Given the description of an element on the screen output the (x, y) to click on. 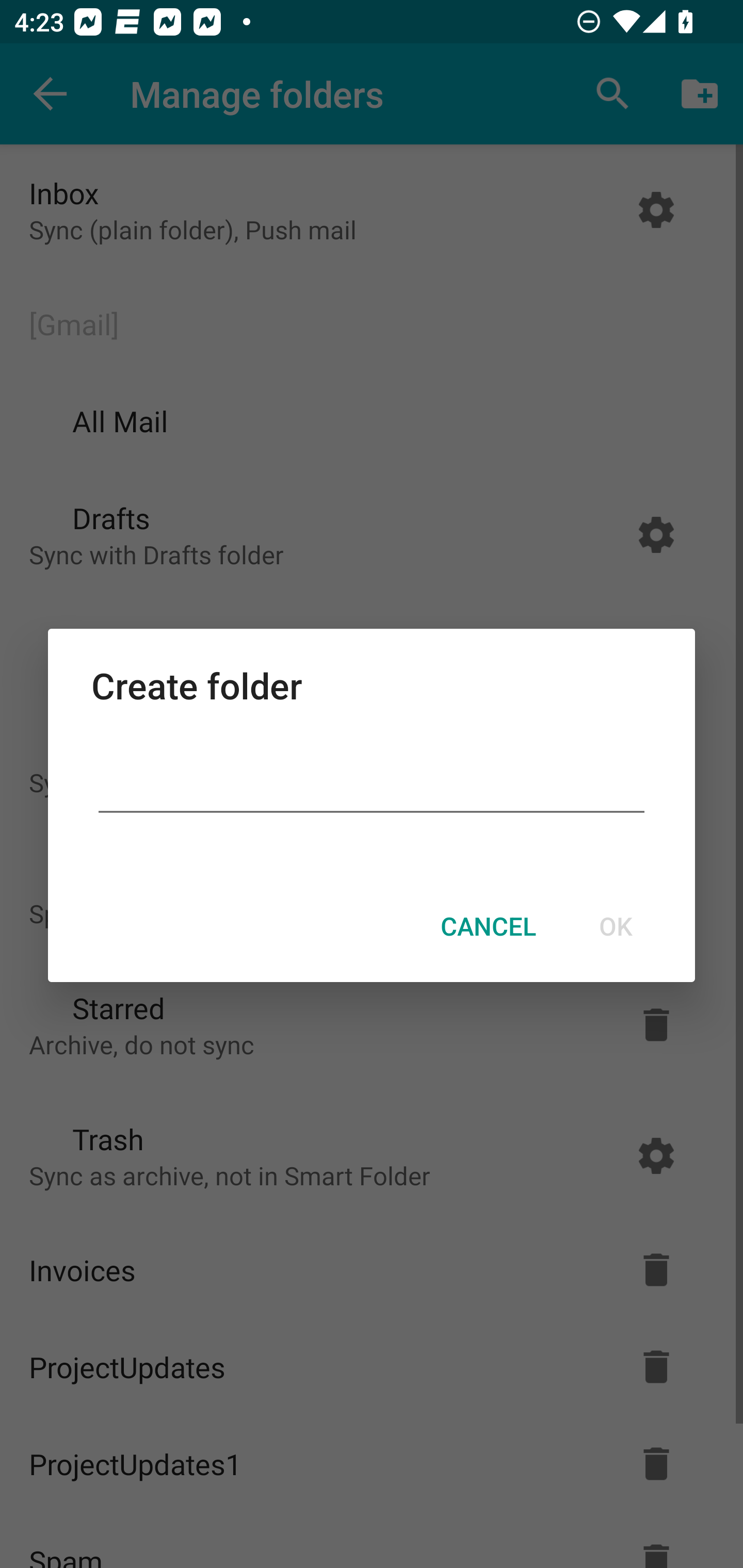
CANCEL (488, 926)
OK (615, 926)
